Given the description of an element on the screen output the (x, y) to click on. 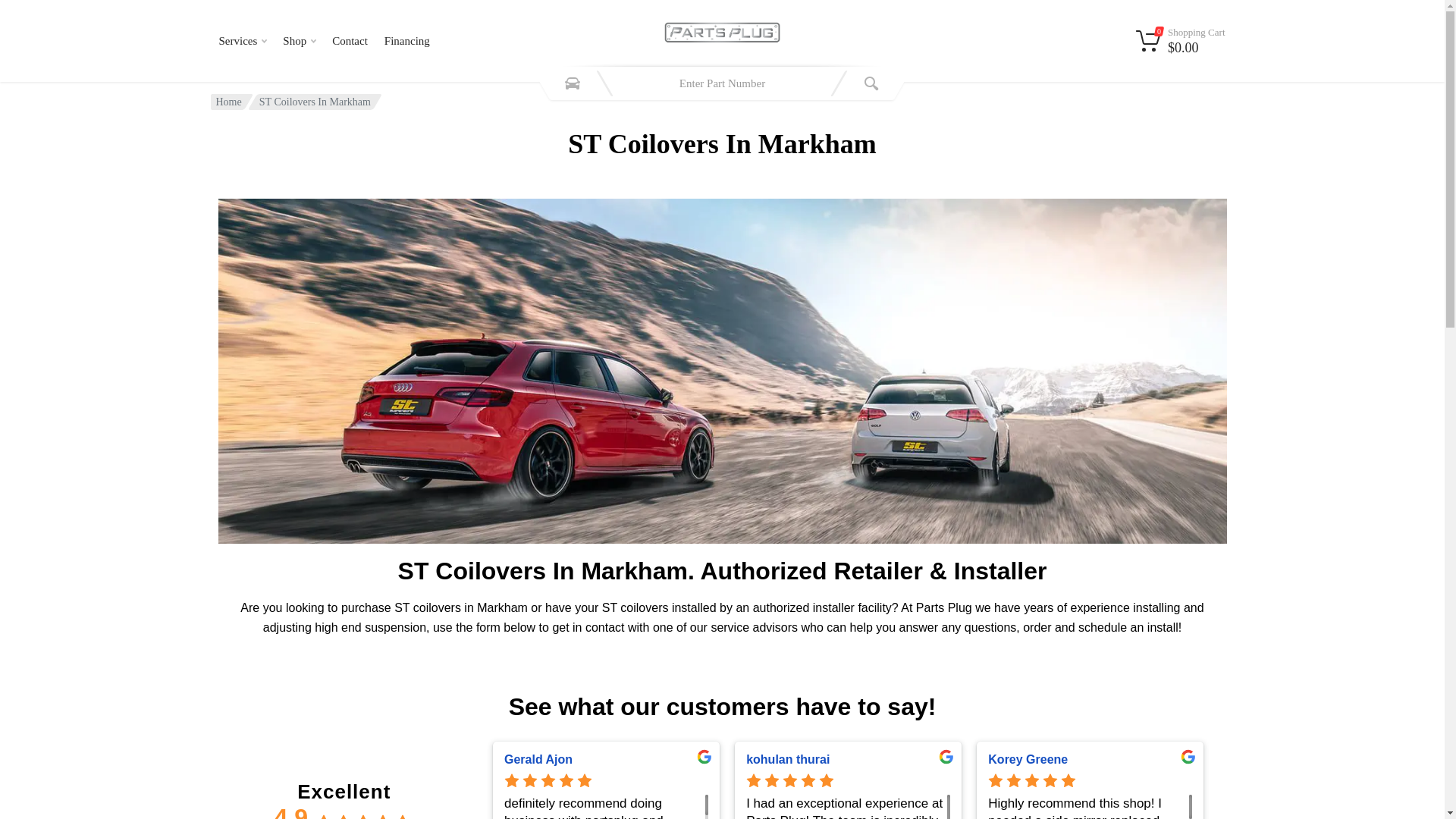
Gerald Ajon (605, 759)
Korey Greene (1090, 759)
Contact (349, 41)
Financing (406, 41)
Shop (299, 41)
June Lee (1332, 759)
Home (228, 101)
Services (243, 41)
kohulan thurai (847, 759)
